Given the description of an element on the screen output the (x, y) to click on. 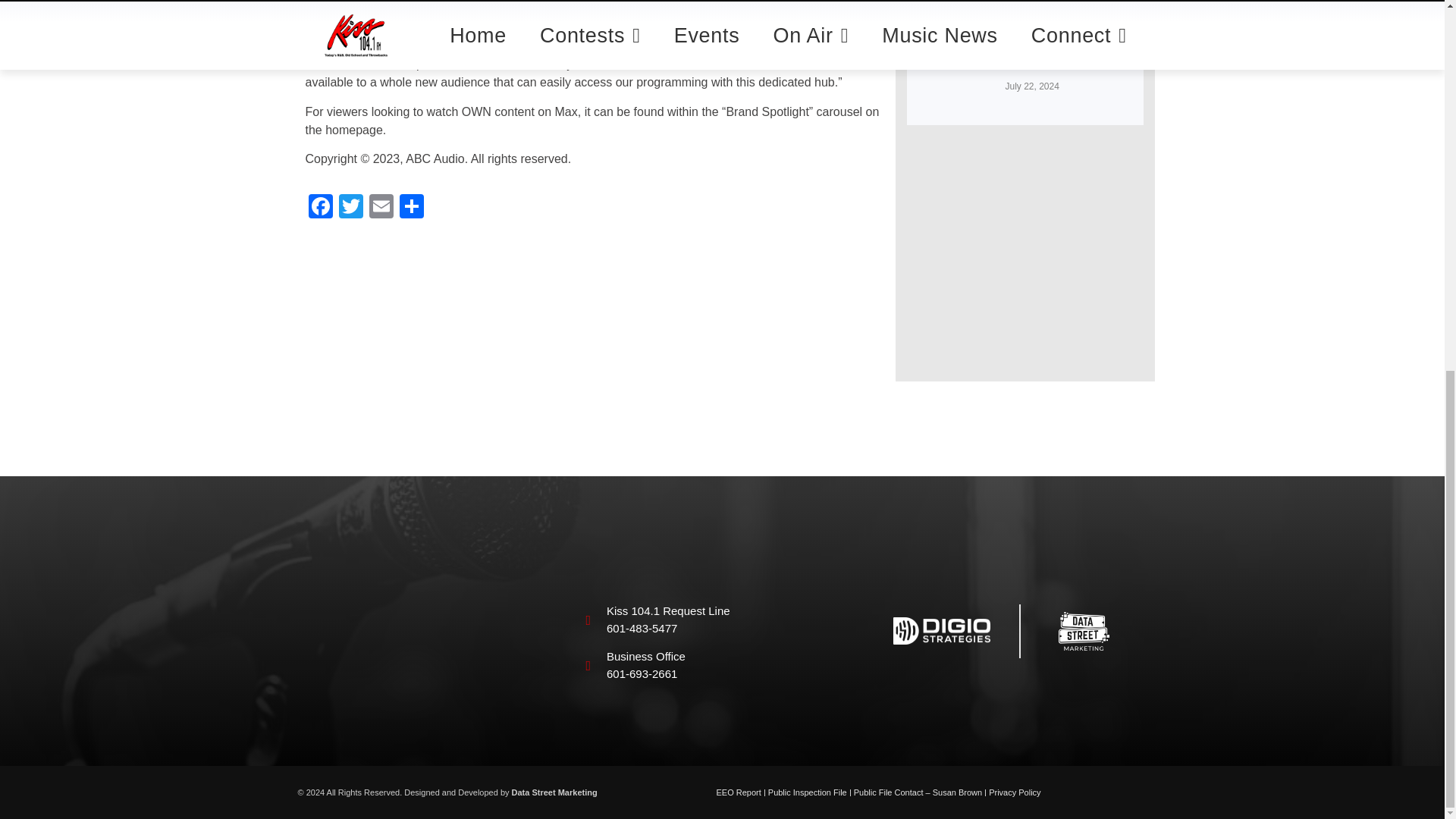
Email (380, 207)
Twitter (349, 207)
Facebook (319, 207)
